Given the description of an element on the screen output the (x, y) to click on. 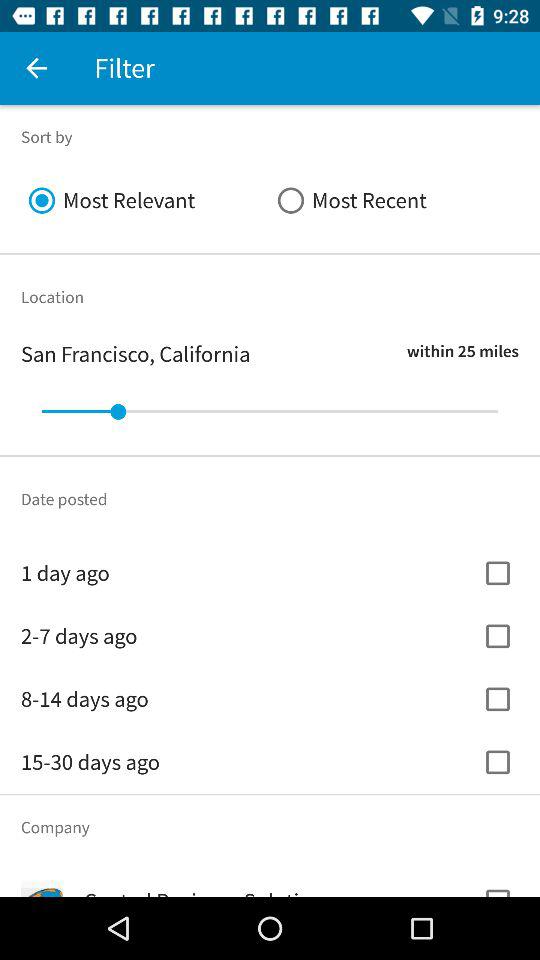
click icon next to most recent icon (145, 200)
